Given the description of an element on the screen output the (x, y) to click on. 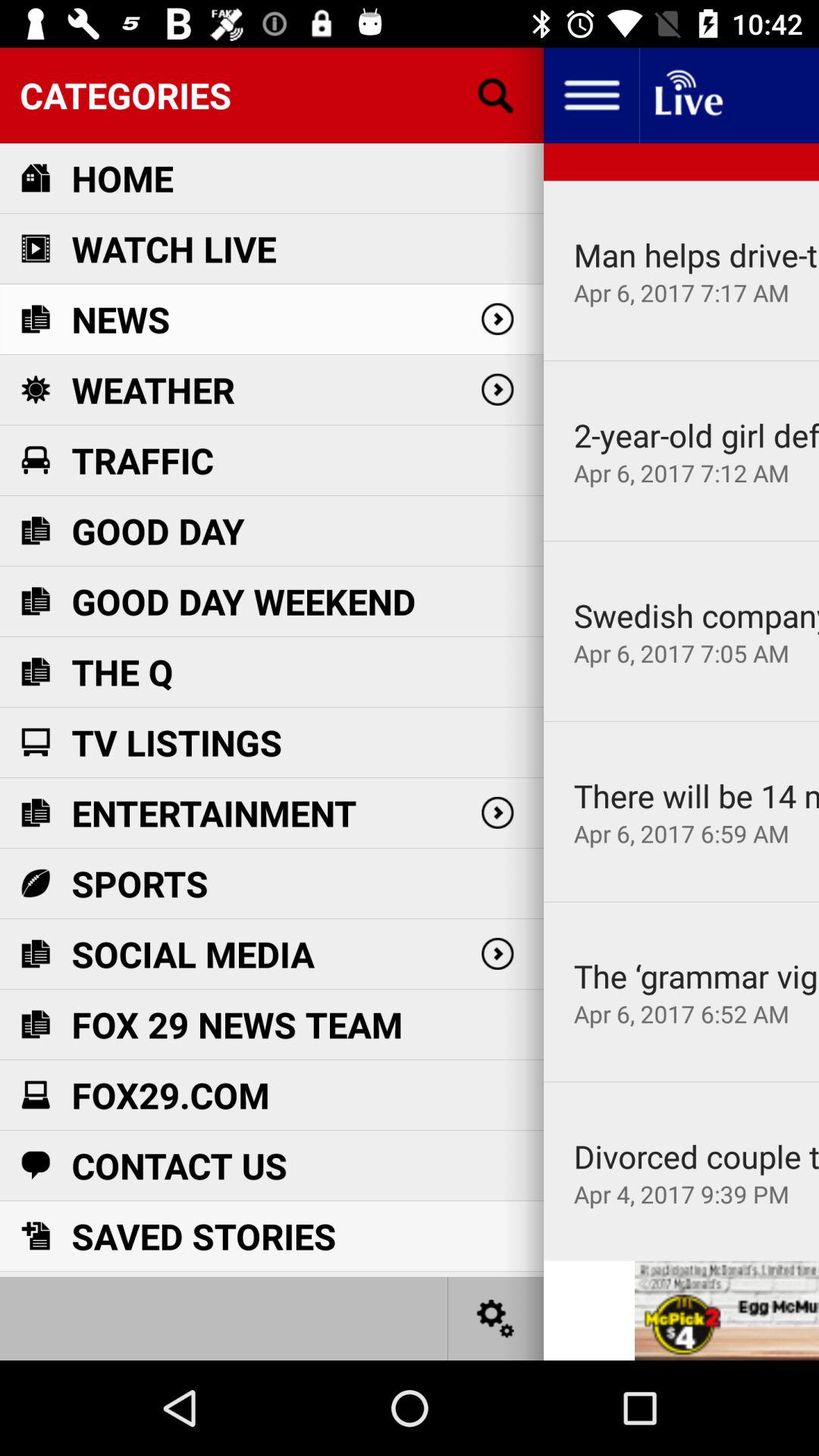
search (495, 95)
